Given the description of an element on the screen output the (x, y) to click on. 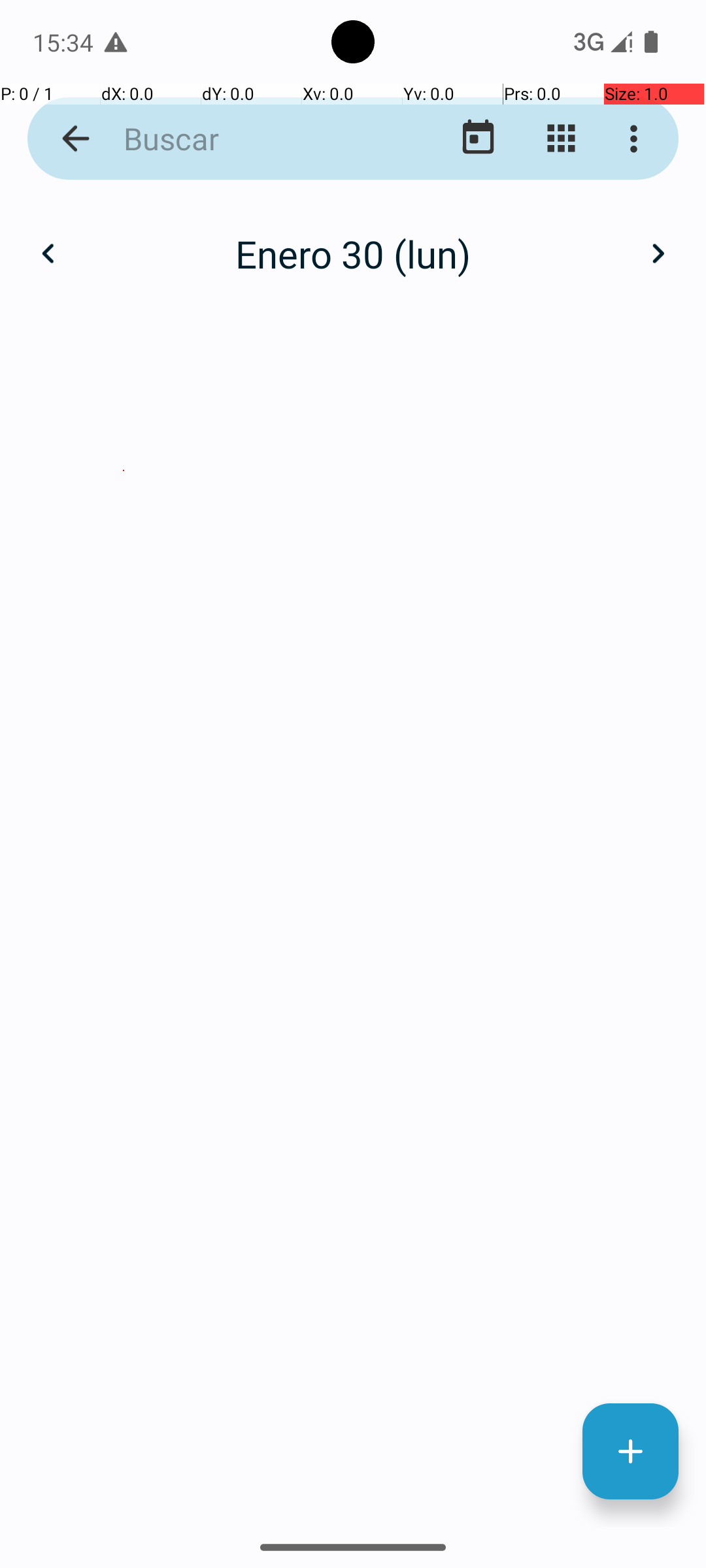
Buscar Element type: android.widget.EditText (252, 138)
Ir al día de hoy Element type: android.widget.Button (477, 138)
Nuevo evento Element type: android.widget.ImageButton (630, 1451)
ENERO Element type: android.widget.TextView (123, 319)
FEBRERO Element type: android.widget.TextView (352, 319)
MARZO Element type: android.widget.TextView (582, 319)
ABRIL Element type: android.widget.TextView (123, 621)
MAYO Element type: android.widget.TextView (352, 621)
JUNIO Element type: android.widget.TextView (582, 621)
JULIO Element type: android.widget.TextView (123, 923)
AGOSTO Element type: android.widget.TextView (352, 923)
SEPTIEMBRE Element type: android.widget.TextView (582, 923)
OCTUBRE Element type: android.widget.TextView (123, 1224)
NOVIEMBRE Element type: android.widget.TextView (352, 1224)
DICIEMBRE Element type: android.widget.TextView (582, 1224)
Febrero Element type: android.widget.TextView (352, 239)
Enero 30 (lun) Element type: android.widget.TextView (352, 253)
